Given the description of an element on the screen output the (x, y) to click on. 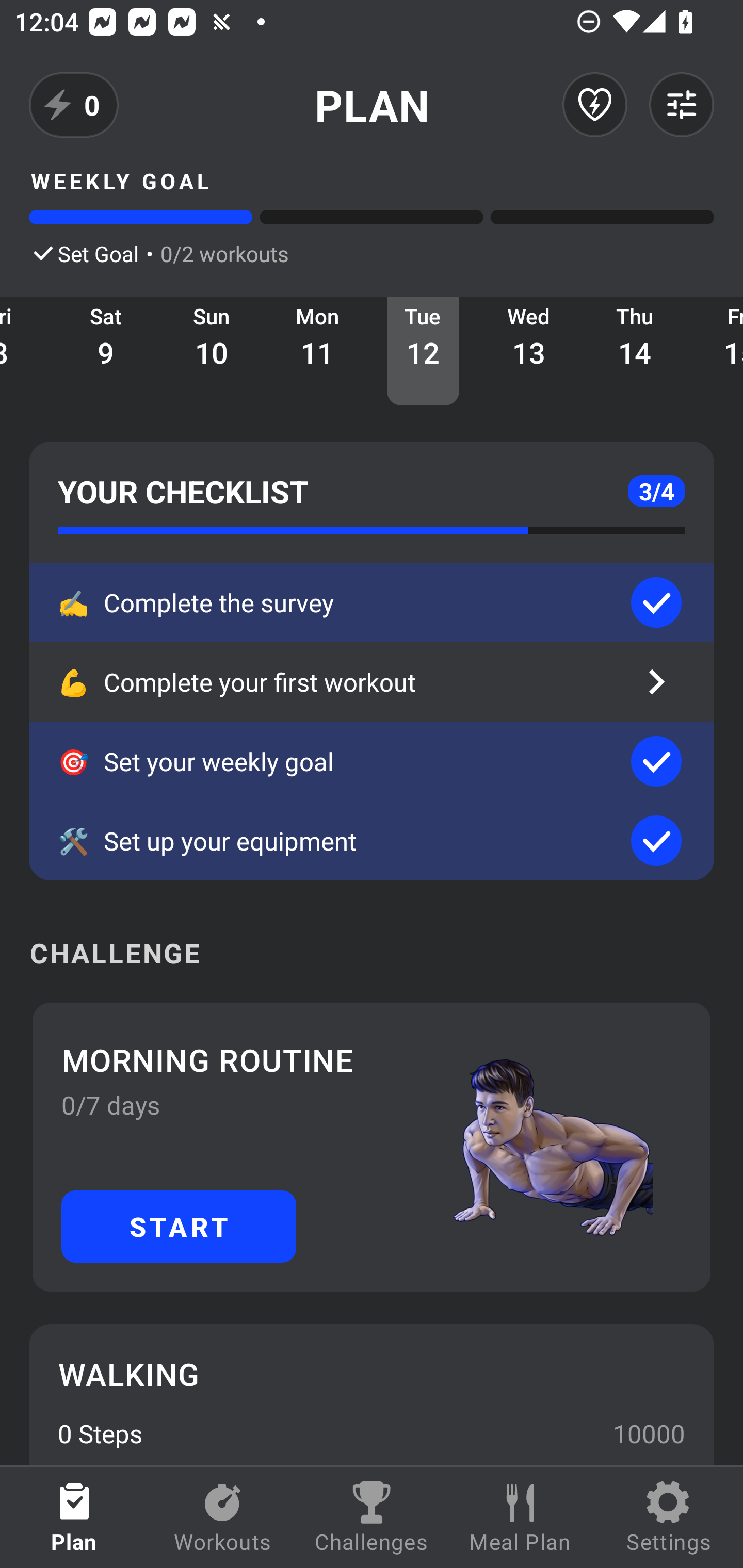
0 (73, 104)
Sat 9 (106, 351)
Sun 10 (211, 351)
Mon 11 (317, 351)
Tue 12 (423, 351)
Wed 13 (528, 351)
Thu 14 (634, 351)
💪 Complete your first workout (371, 681)
MORNING ROUTINE 0/7 days START (371, 1146)
START (178, 1226)
WALKING 0 Steps 10000 (371, 1393)
 Workouts  (222, 1517)
 Challenges  (371, 1517)
 Meal Plan  (519, 1517)
 Settings  (668, 1517)
